Given the description of an element on the screen output the (x, y) to click on. 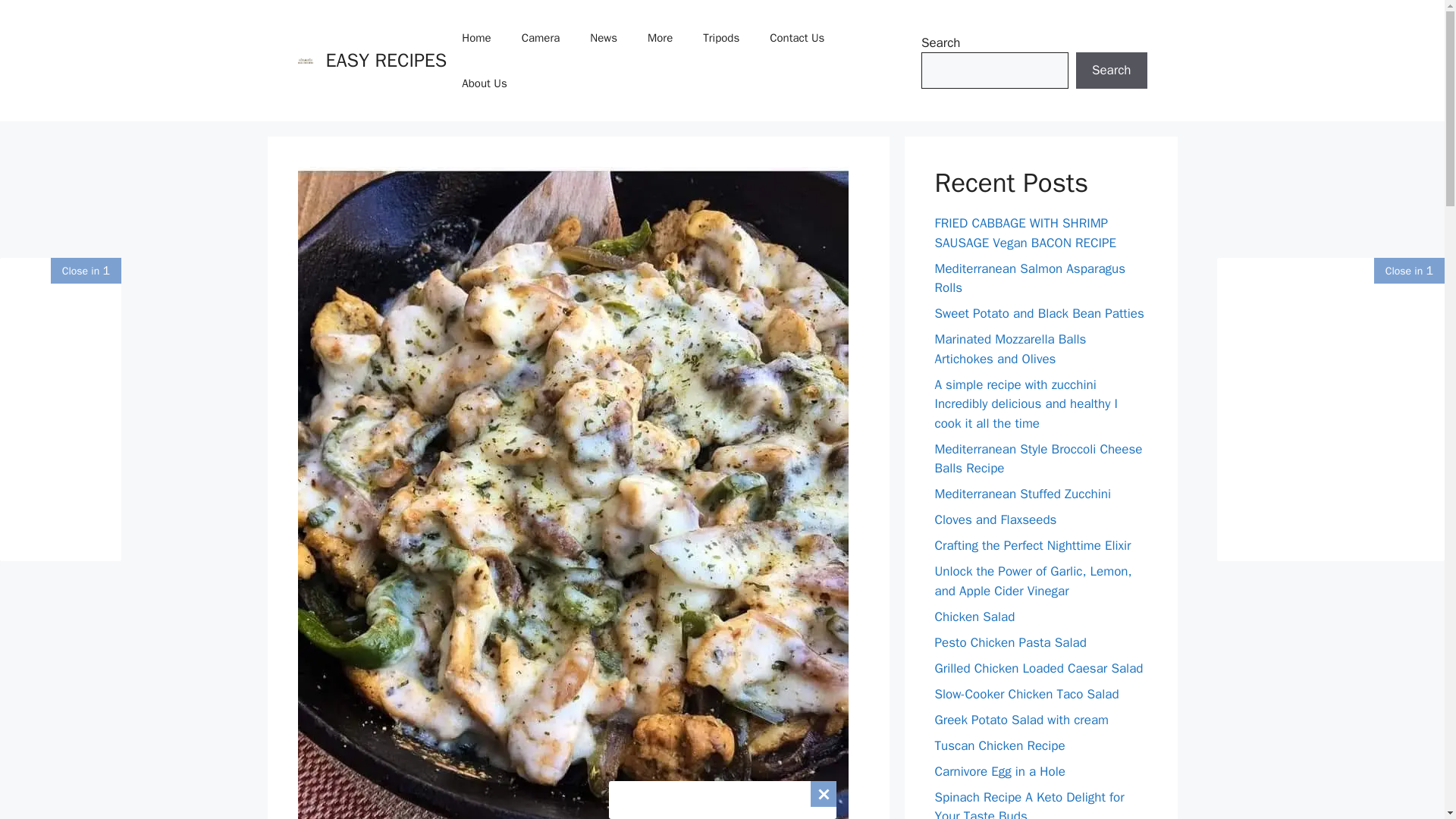
Unlock the Power of Garlic, Lemon, and Apple Cider Vinegar (1032, 580)
EASY RECIPES (386, 60)
Home (475, 37)
Camera (540, 37)
Search (1111, 70)
Cloves and Flaxseeds (995, 519)
Sweet Potato and Black Bean Patties (1038, 313)
Chicken Salad (974, 616)
Tripods (720, 37)
Crafting the Perfect Nighttime Elixir (1032, 545)
Mediterranean Style Broccoli Cheese Balls Recipe (1037, 458)
Marinated Mozzarella Balls Artichokes and Olives (1010, 348)
Mediterranean Stuffed Zucchini (1022, 494)
Grilled Chicken Loaded Caesar Salad (1038, 667)
